Given the description of an element on the screen output the (x, y) to click on. 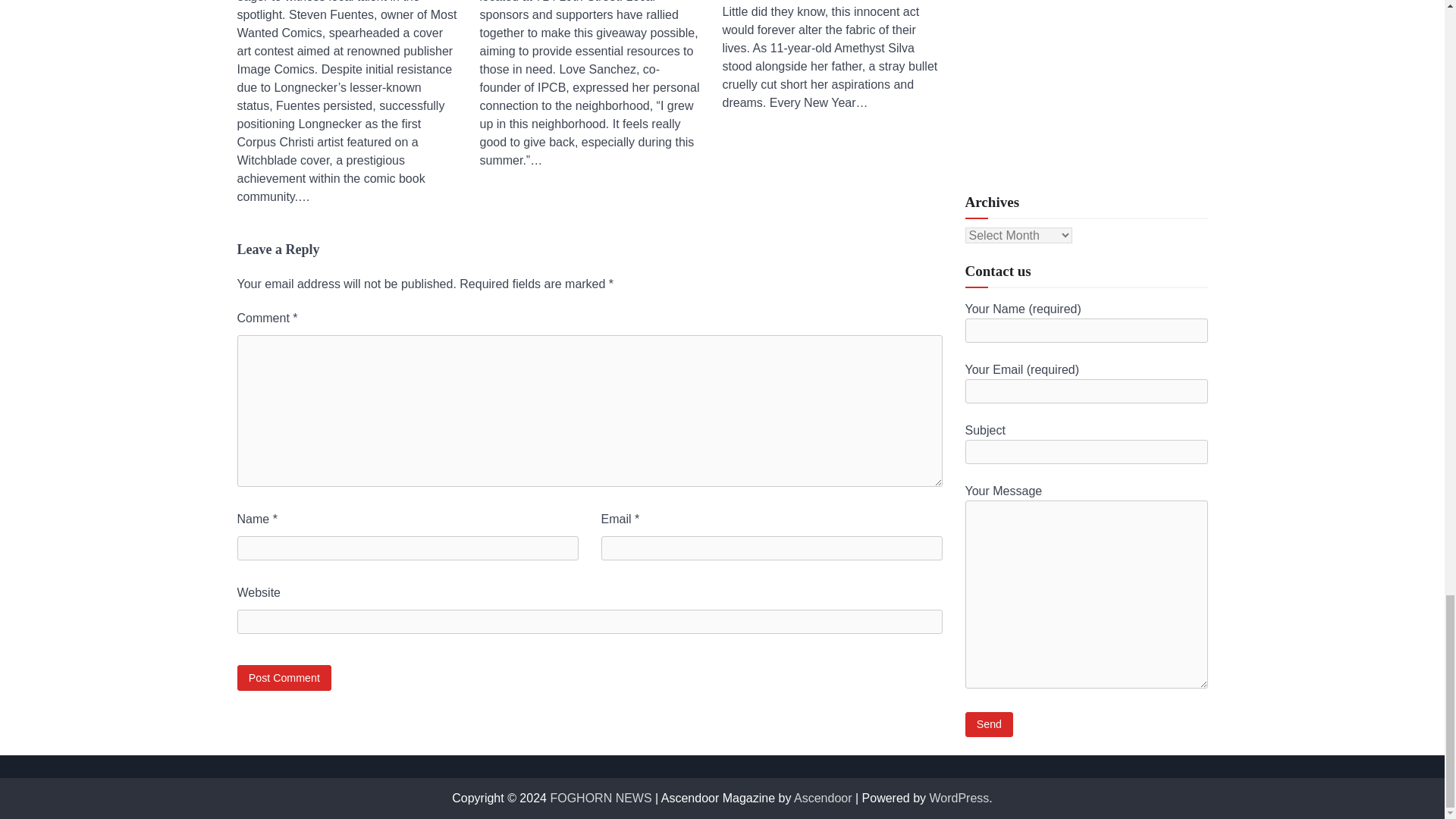
FOGHORN NEWS (600, 797)
Ascendoor (822, 797)
Post Comment (283, 677)
Post Comment (283, 677)
WordPress (960, 797)
